Given the description of an element on the screen output the (x, y) to click on. 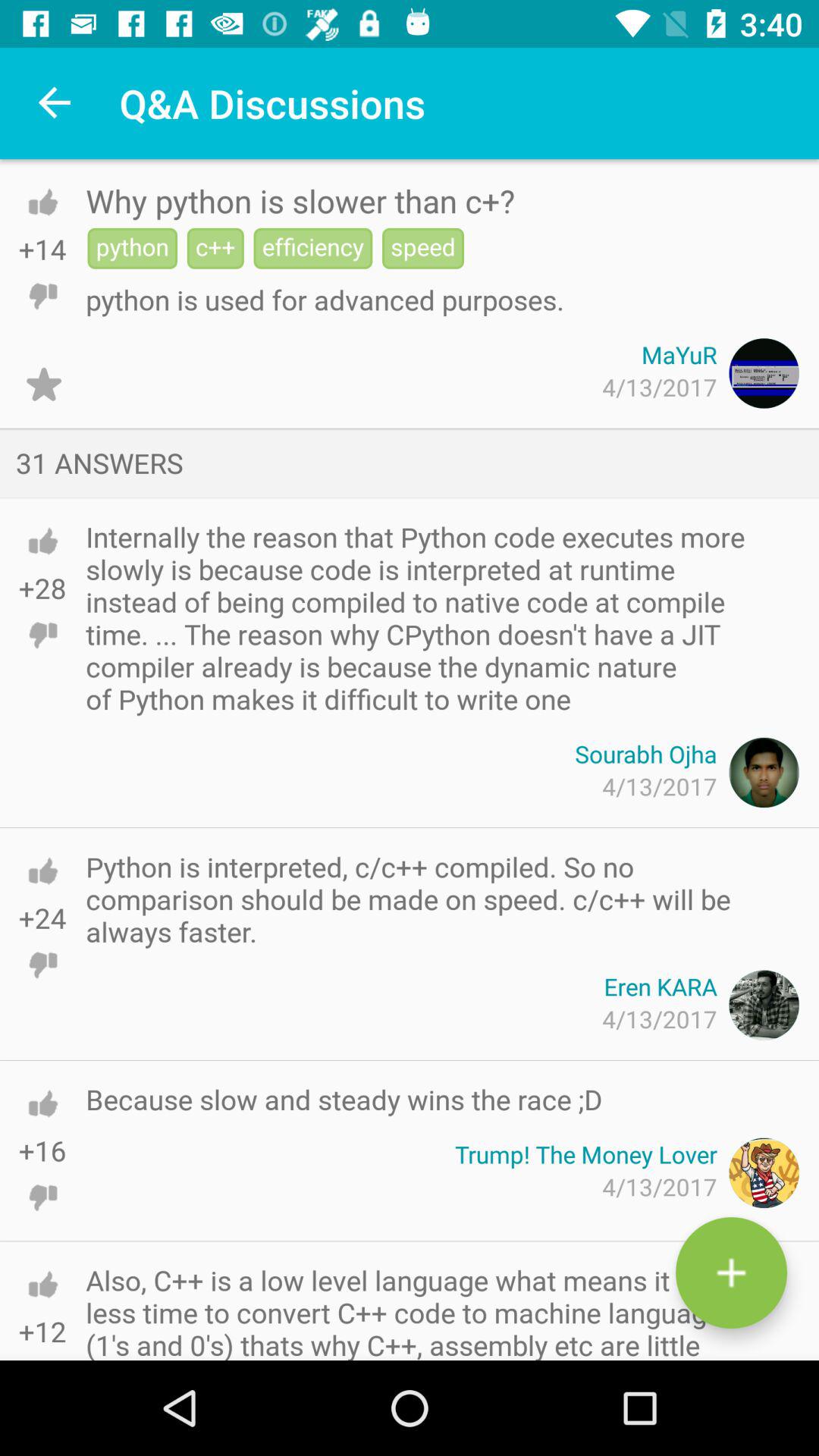
dislike (42, 1347)
